Given the description of an element on the screen output the (x, y) to click on. 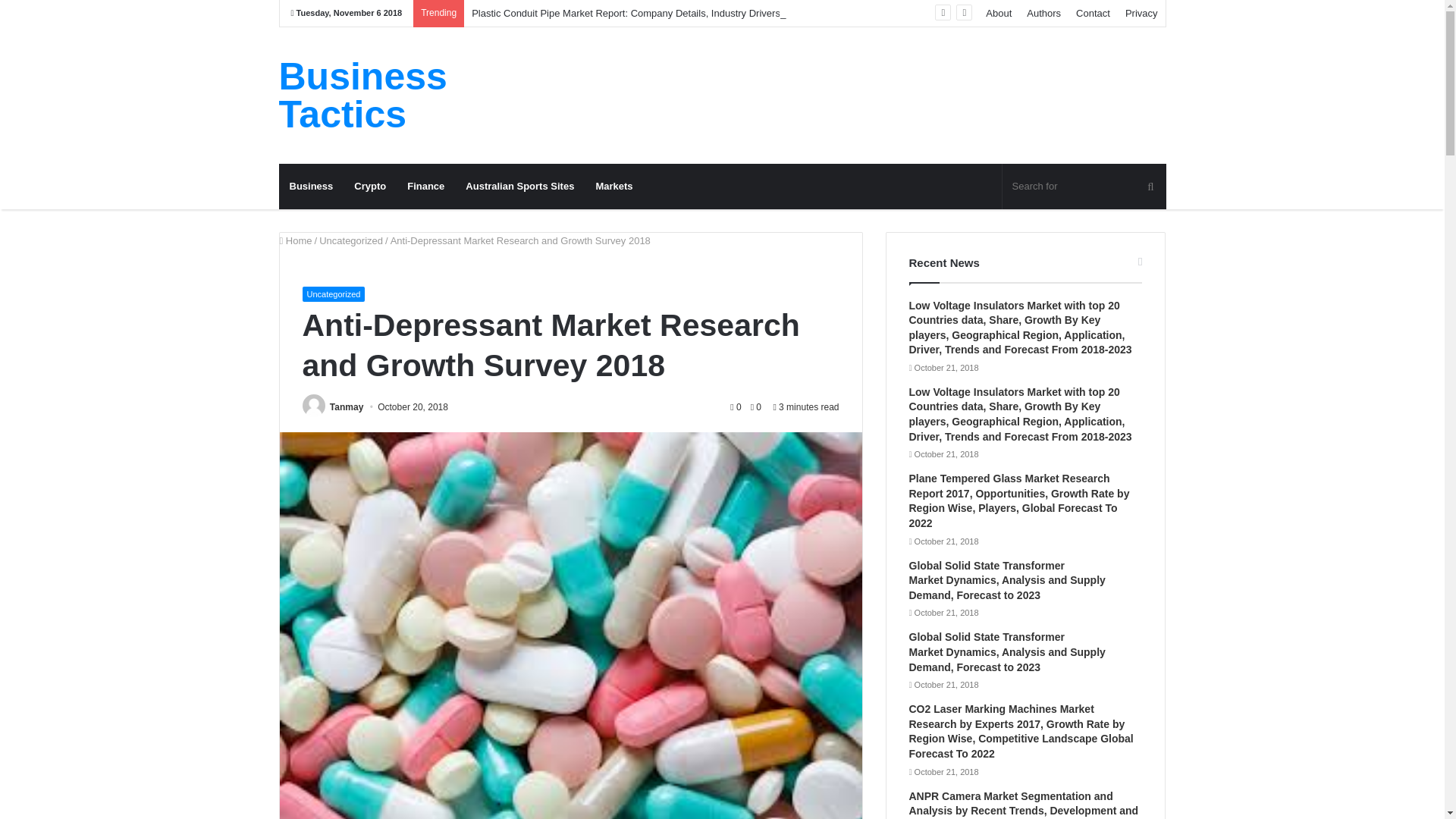
Business Tactics (419, 95)
Uncategorized (350, 240)
Australian Sports Sites (519, 186)
Business (311, 186)
Uncategorized (333, 294)
Privacy (1142, 13)
Tanmay (346, 407)
Finance (425, 186)
